Given the description of an element on the screen output the (x, y) to click on. 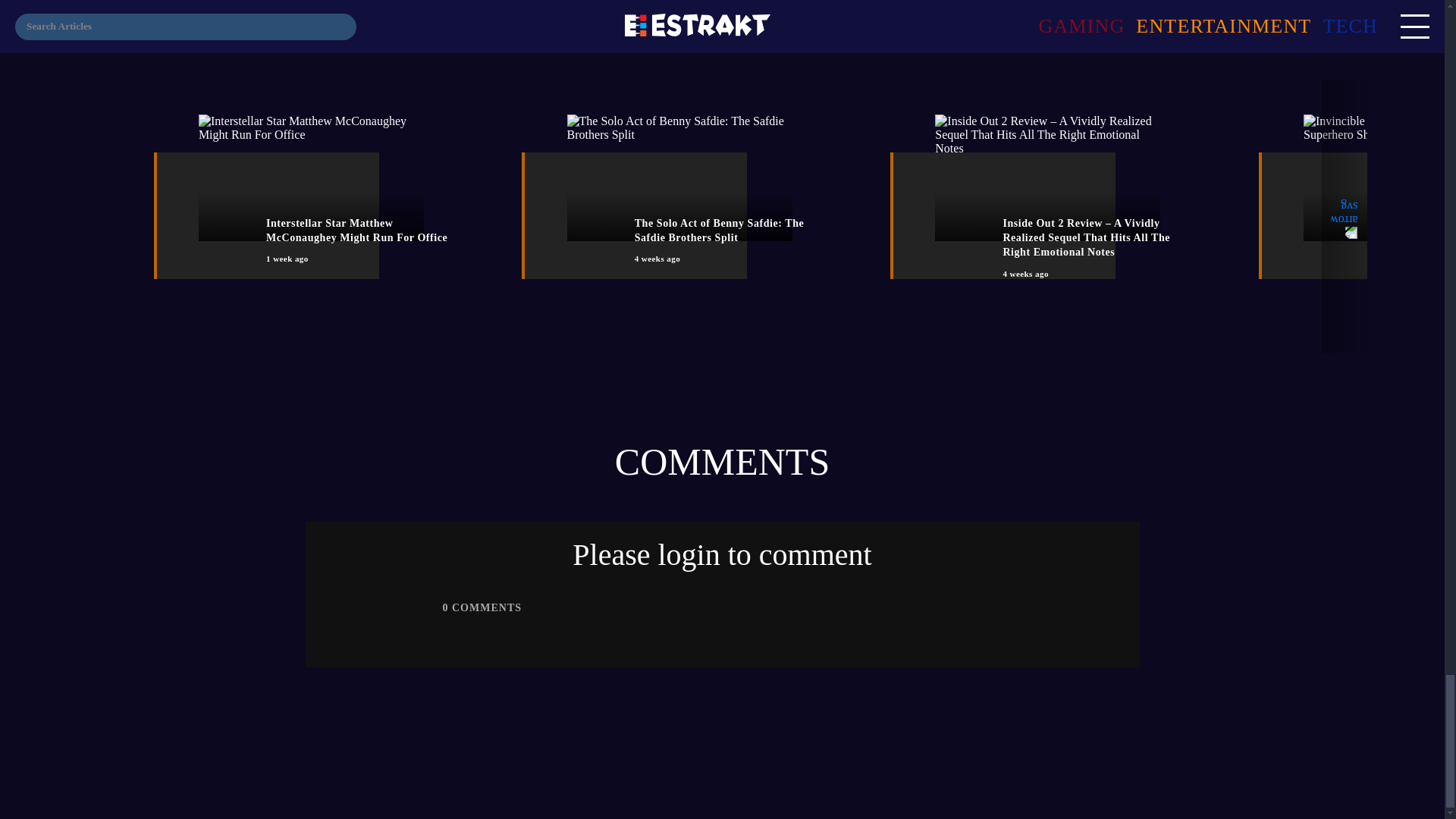
0 (445, 607)
